Given the description of an element on the screen output the (x, y) to click on. 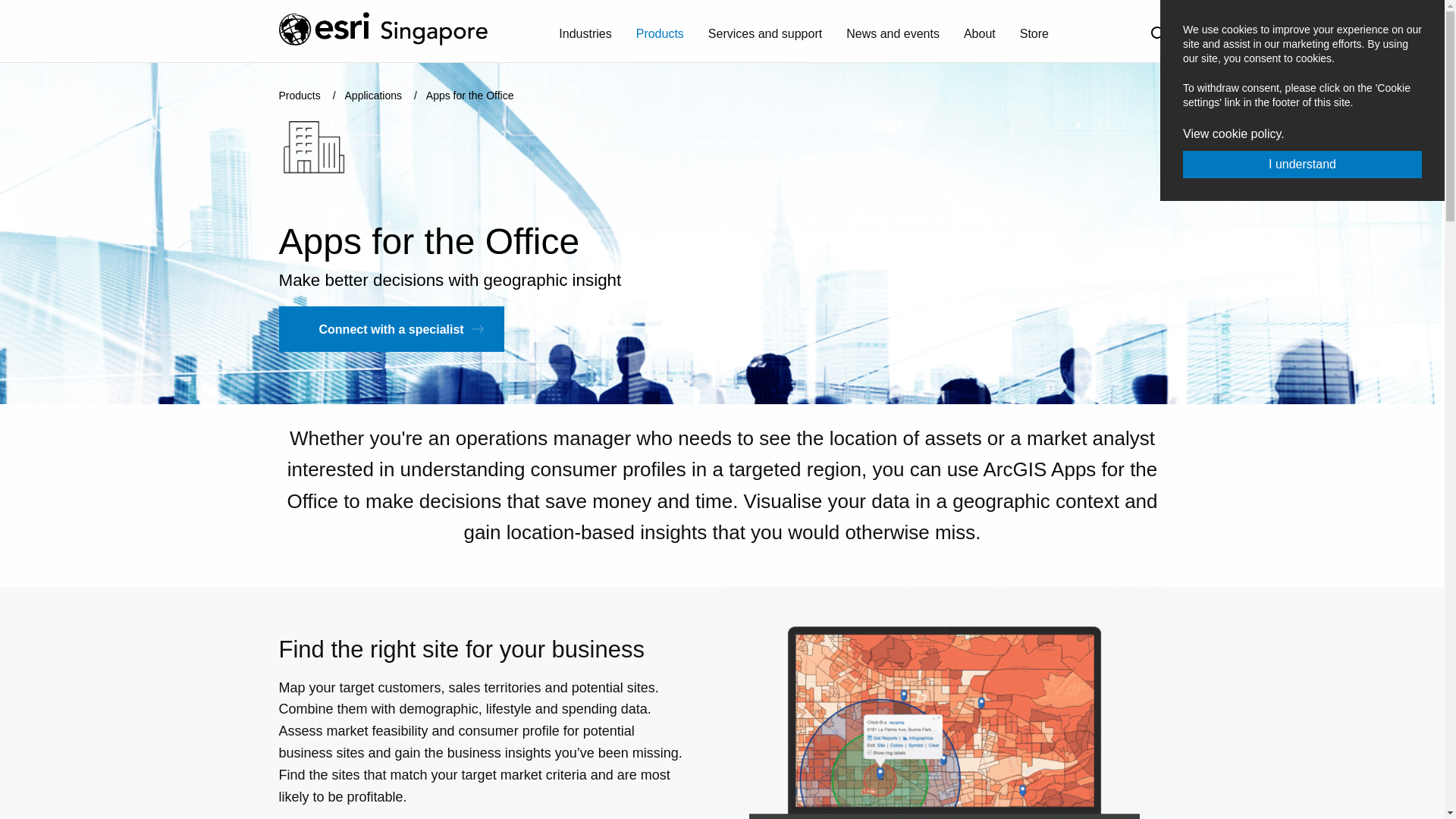
View cookie policy. (1233, 133)
Products (660, 33)
Home (401, 28)
I understand (1302, 164)
Industries (585, 33)
